Given the description of an element on the screen output the (x, y) to click on. 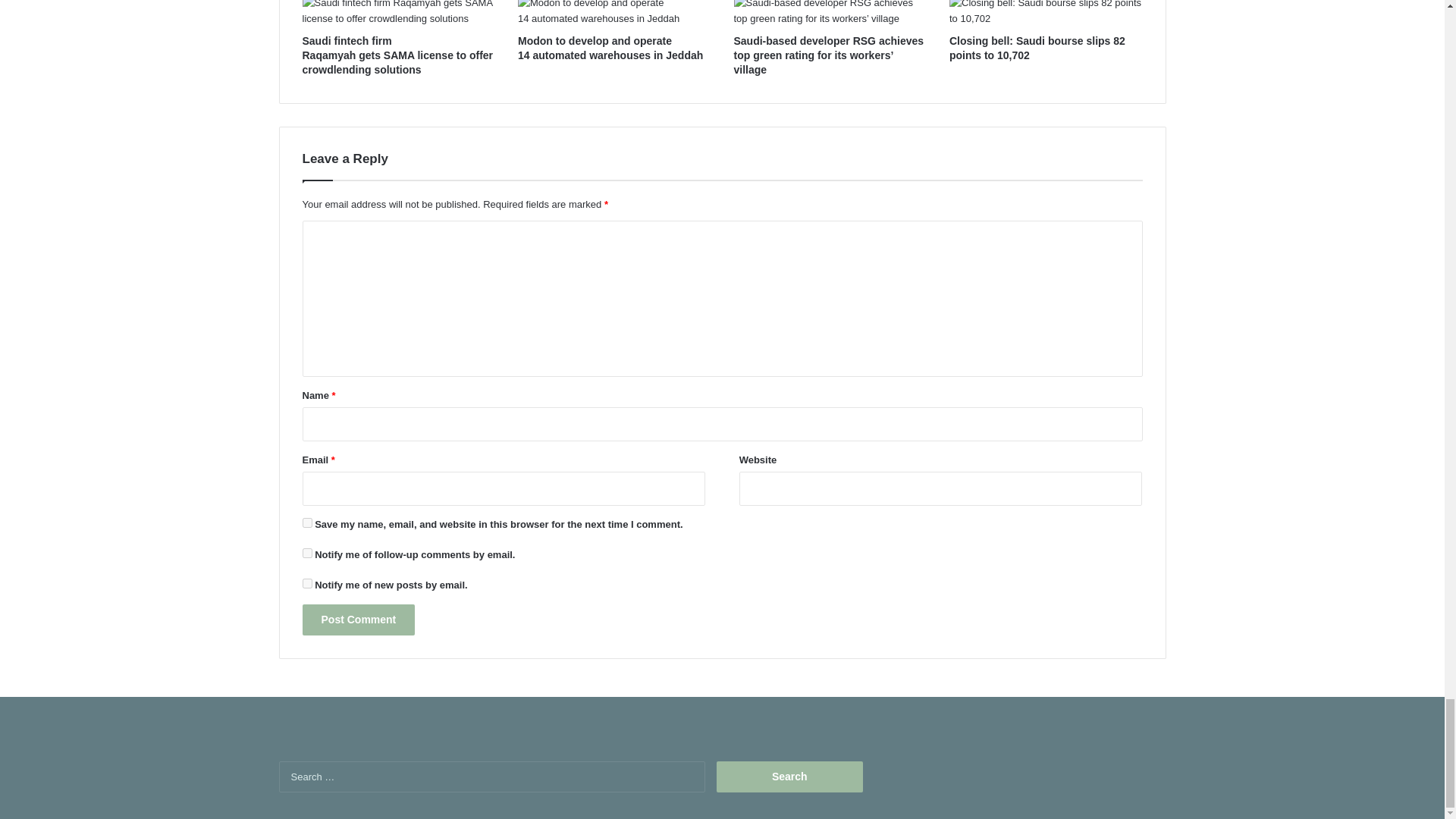
yes (306, 522)
Post Comment (357, 619)
Search (789, 776)
subscribe (306, 552)
subscribe (306, 583)
Search (789, 776)
